Given the description of an element on the screen output the (x, y) to click on. 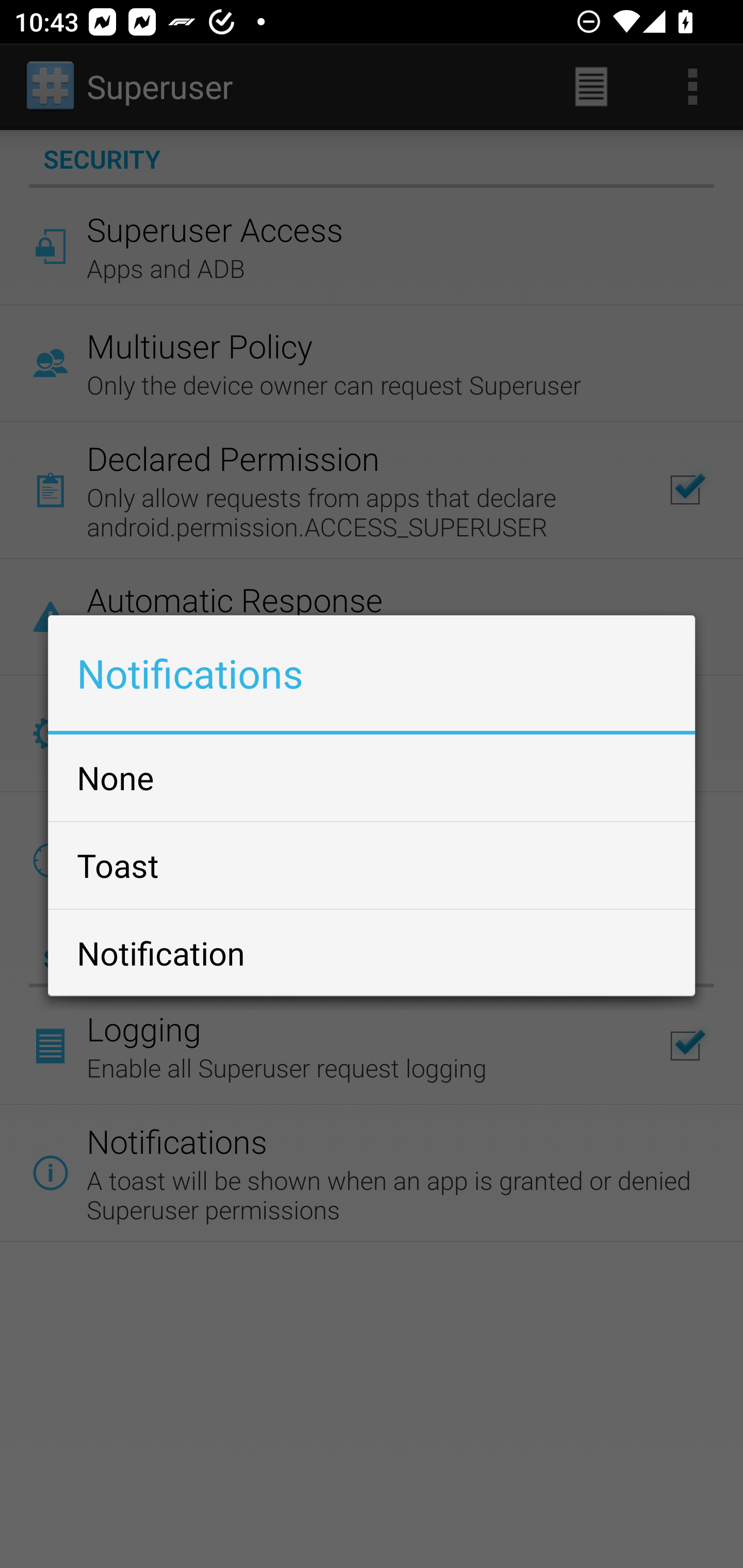
None (371, 777)
Toast (371, 865)
Notification (371, 952)
